Given the description of an element on the screen output the (x, y) to click on. 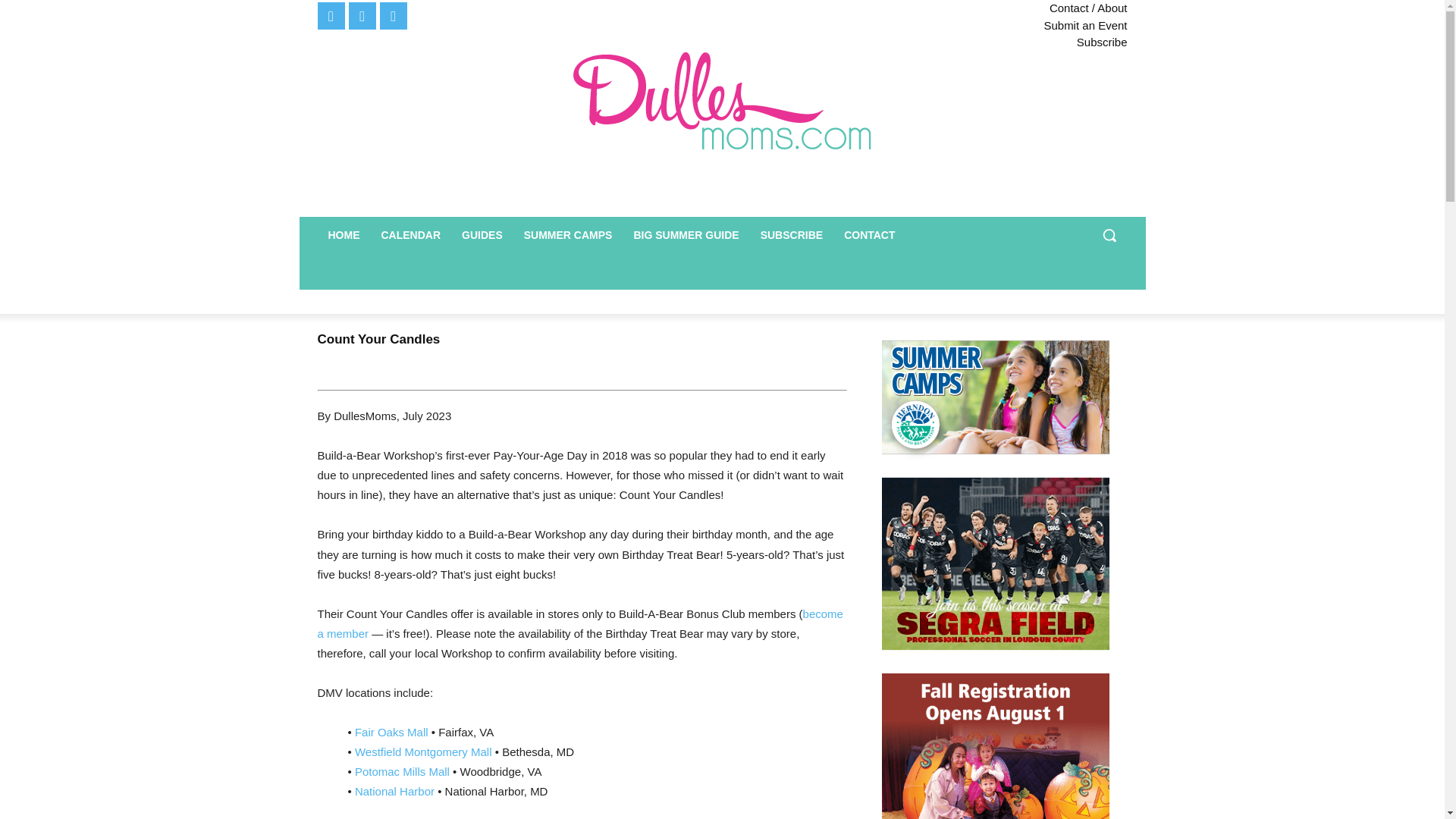
become a member (580, 623)
Instagram (393, 14)
National Harbor (394, 790)
BIG SUMMER GUIDE (686, 235)
Subscribe (932, 42)
Potomac Mills Mall (402, 771)
Fair Oaks Mall (391, 731)
Submit an Event (932, 25)
Twitter (362, 14)
CONTACT (868, 235)
CALENDAR (410, 235)
SUBSCRIBE (790, 235)
Facebook (330, 14)
GUIDES (482, 235)
SUMMER CAMPS (568, 235)
